Given the description of an element on the screen output the (x, y) to click on. 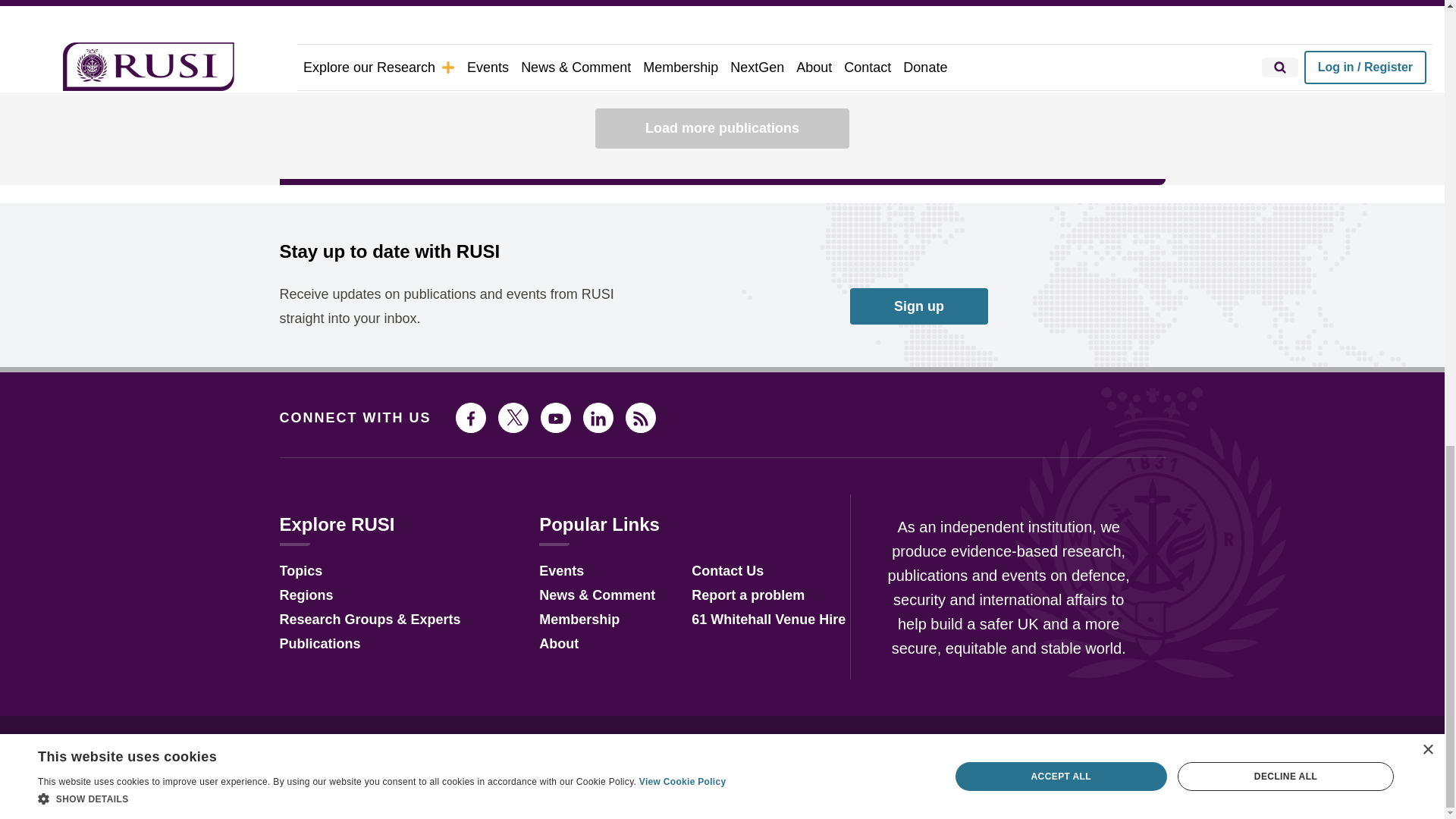
About (558, 644)
Publications (319, 644)
Sign up (919, 306)
Events (560, 571)
Load more publications (721, 128)
Membership (579, 620)
View all publications (1104, 61)
Contact Us (726, 571)
Topics (300, 571)
Regions (306, 596)
